Given the description of an element on the screen output the (x, y) to click on. 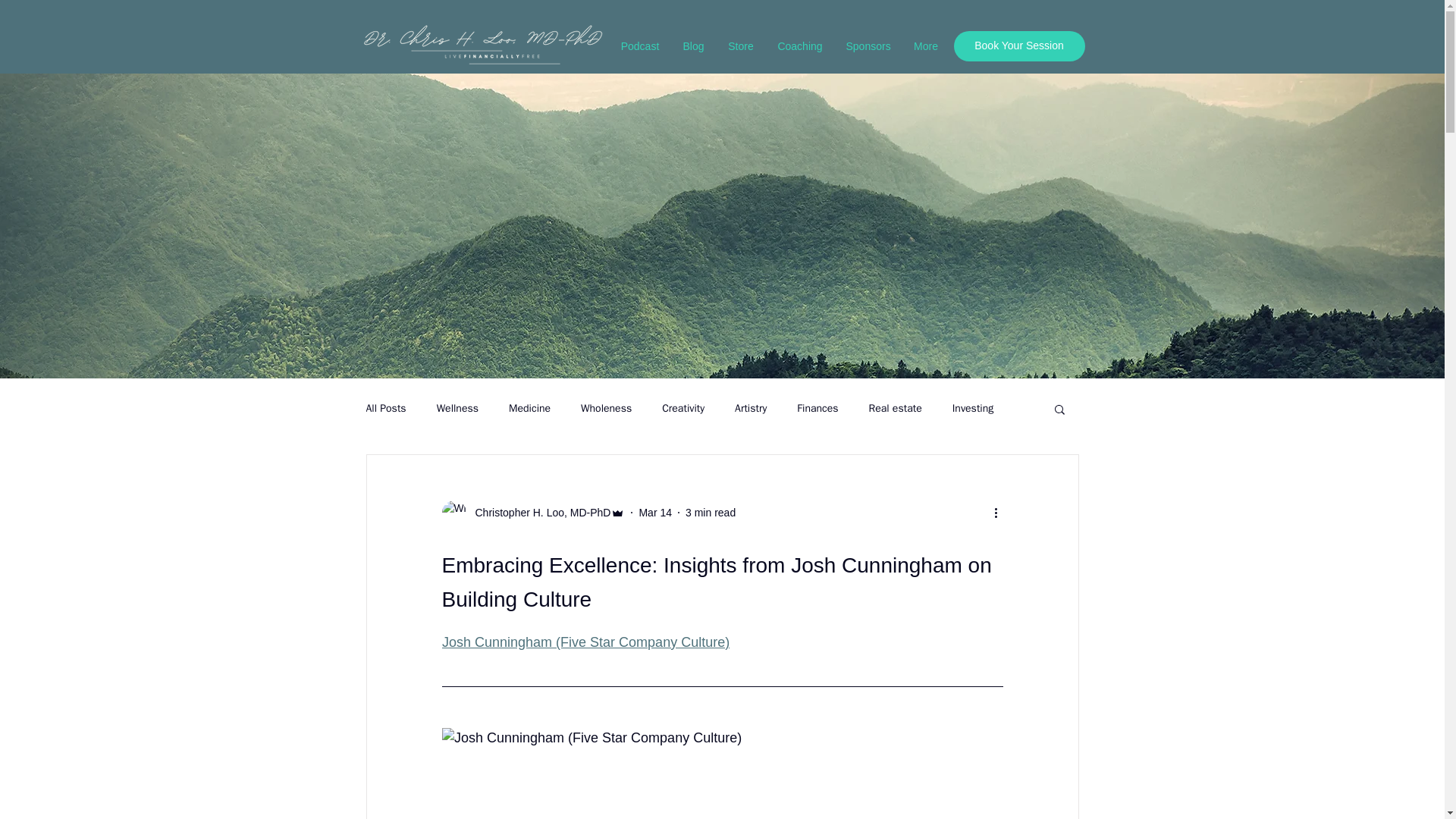
Real estate (895, 408)
Wellness (457, 408)
Christopher H. Loo, MD-PhD (532, 512)
All Posts (385, 408)
Artistry (751, 408)
Wholeness (605, 408)
Book Your Session (1018, 46)
Finances (817, 408)
Medicine (529, 408)
Store (740, 46)
